Given the description of an element on the screen output the (x, y) to click on. 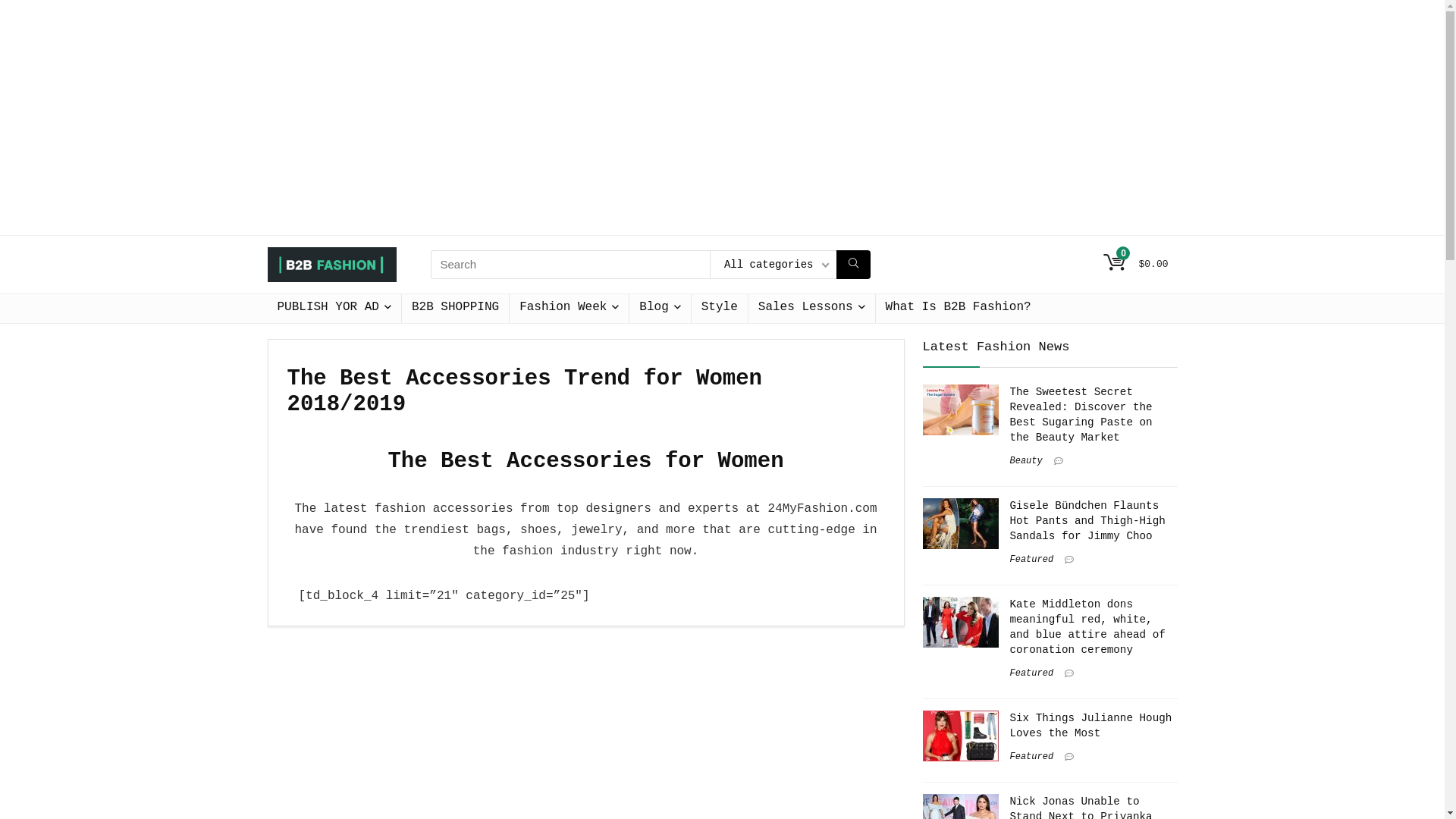
Featured Element type: text (1032, 559)
PUBLISH YOR AD Element type: text (333, 308)
Fashion Week Element type: text (568, 308)
Beauty Element type: text (1026, 460)
Sales Lessons Element type: text (811, 308)
Style Element type: text (719, 308)
0
$0.00 Element type: text (1135, 264)
What Is B2B Fashion? Element type: text (958, 308)
Featured Element type: text (1032, 756)
Featured Element type: text (1032, 673)
Blog Element type: text (659, 308)
Advertisement Element type: hover (721, 117)
B2B SHOPPING Element type: text (454, 308)
Six Things Julianne Hough Loves the Most Element type: text (1091, 725)
